Given the description of an element on the screen output the (x, y) to click on. 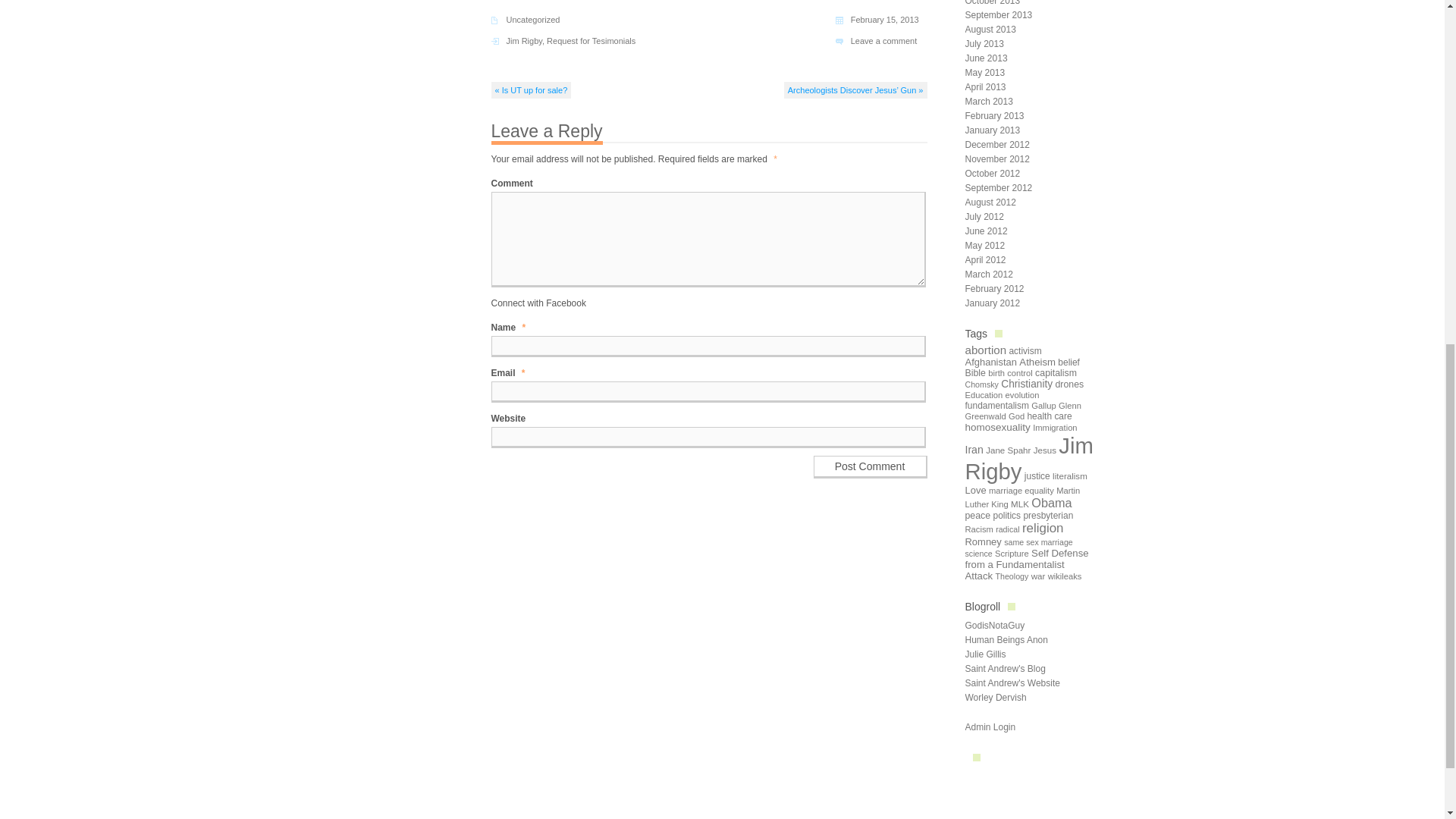
Uncategorized (533, 19)
Post Comment (869, 466)
September 2013 (997, 14)
June 2013 (985, 58)
August 2013 (988, 29)
Request for Tesimonials (590, 40)
Leave a comment (883, 40)
May 2013 (983, 72)
July 2013 (983, 43)
Progressive truth telling from Wisconsin (994, 697)
Jim Rigby (523, 40)
Post Comment (869, 466)
October 2013 (991, 2)
